Given the description of an element on the screen output the (x, y) to click on. 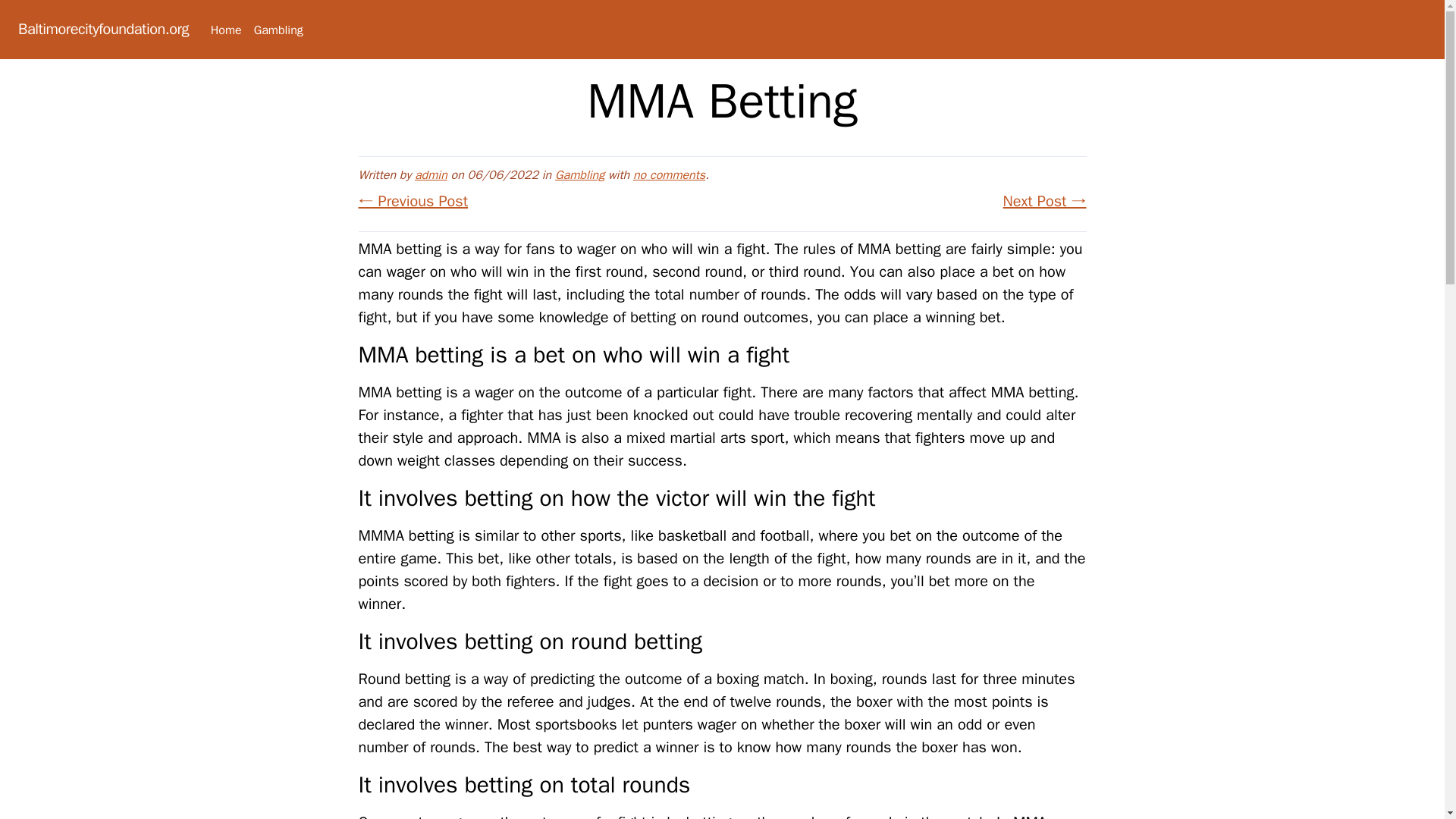
Gambling (579, 174)
admin (430, 174)
Baltimorecityfoundation.org (103, 29)
no comments (668, 174)
Home (226, 30)
Gambling (277, 30)
no comments (668, 174)
